Given the description of an element on the screen output the (x, y) to click on. 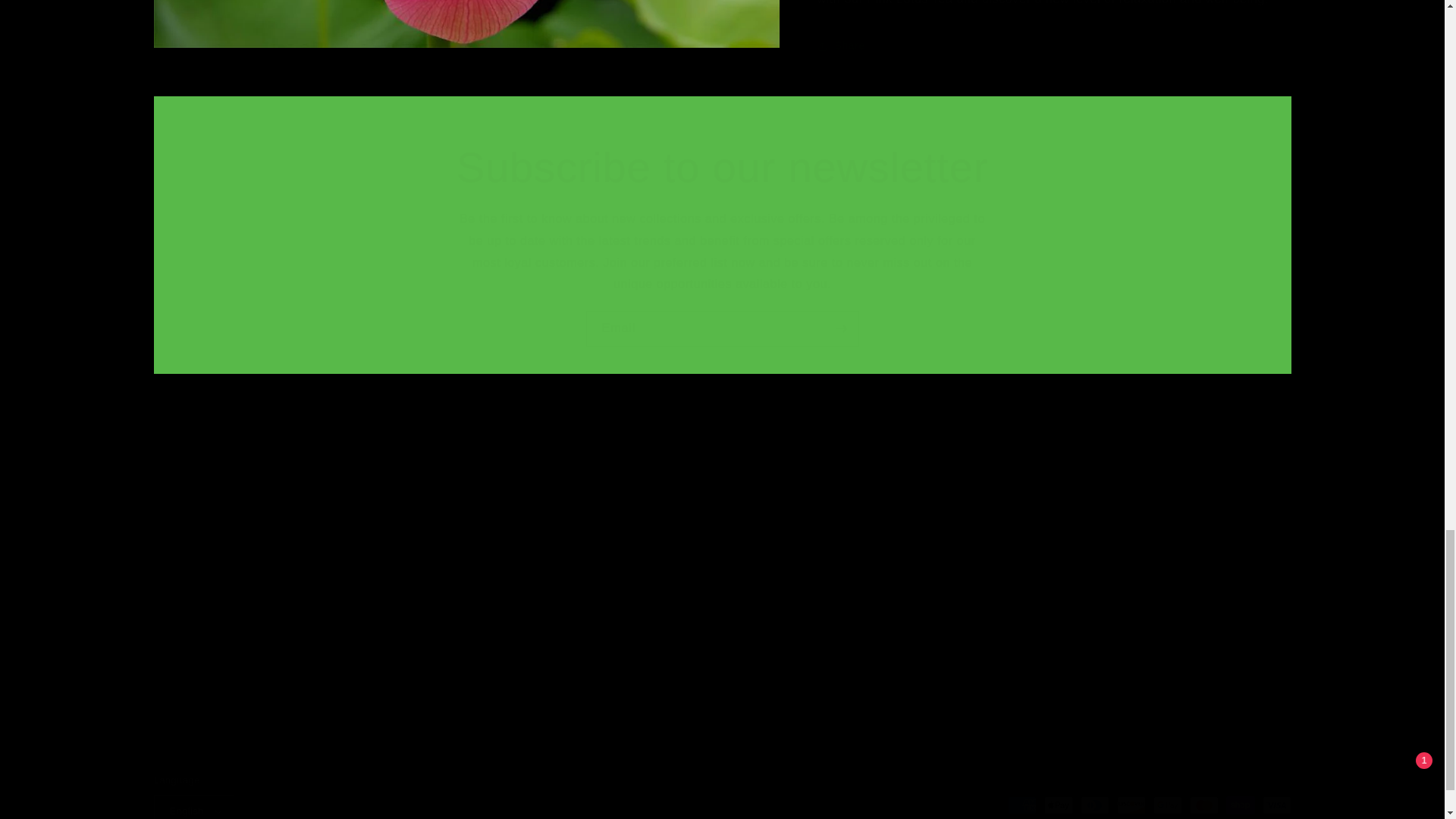
Subscribe to our newsletter (722, 167)
Email (722, 328)
tel:5148448998 (490, 545)
